Given the description of an element on the screen output the (x, y) to click on. 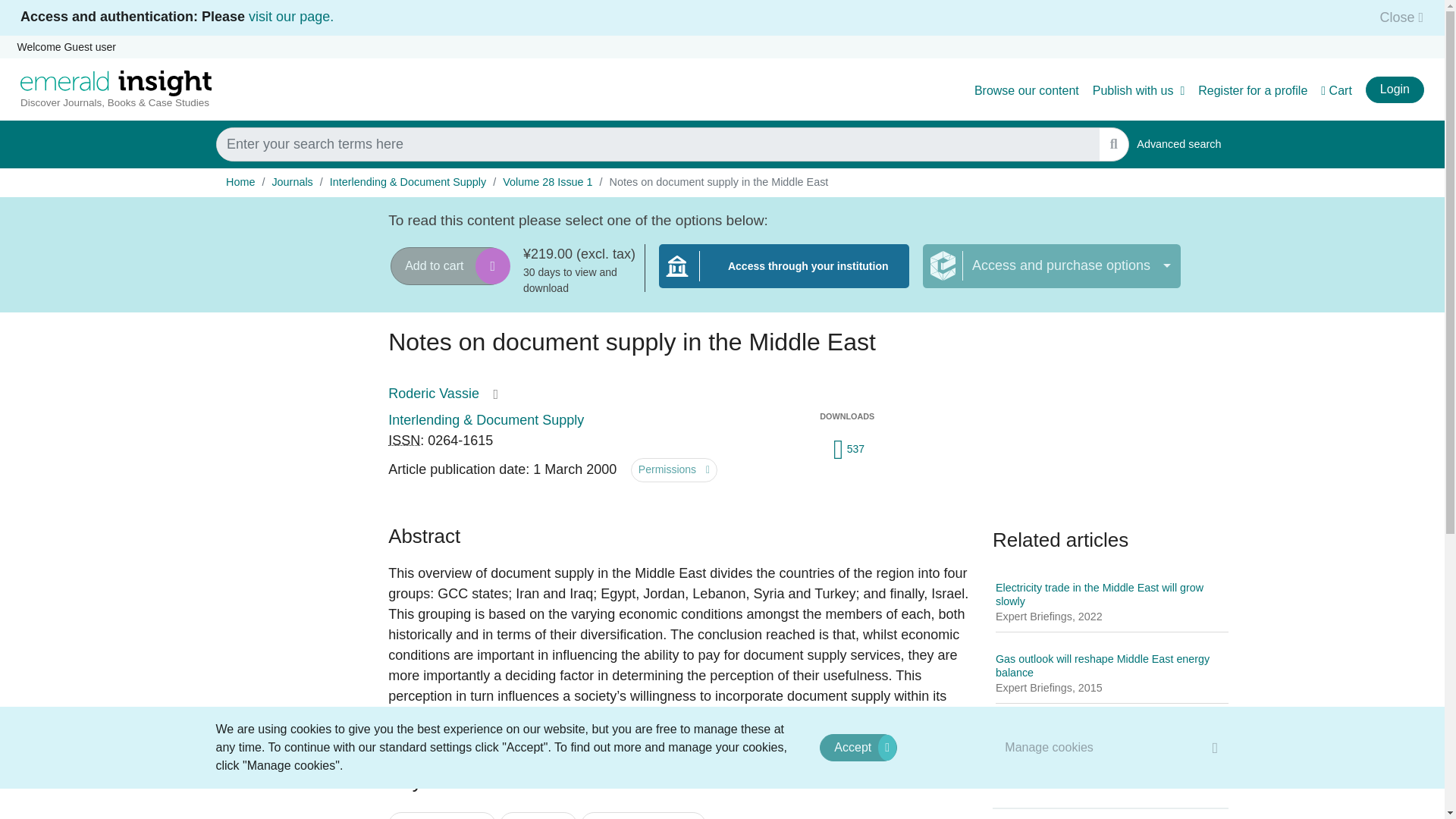
Cart (1336, 90)
Accept (857, 747)
Publish with us (1139, 90)
Access through your institution (783, 275)
Close (1397, 17)
Search for keyword Middle East (537, 815)
Home (239, 182)
Browse our content (1026, 90)
SUBMIT (1113, 143)
Manage cookies (1049, 747)
visit our page. (1178, 144)
Login (290, 16)
